Given the description of an element on the screen output the (x, y) to click on. 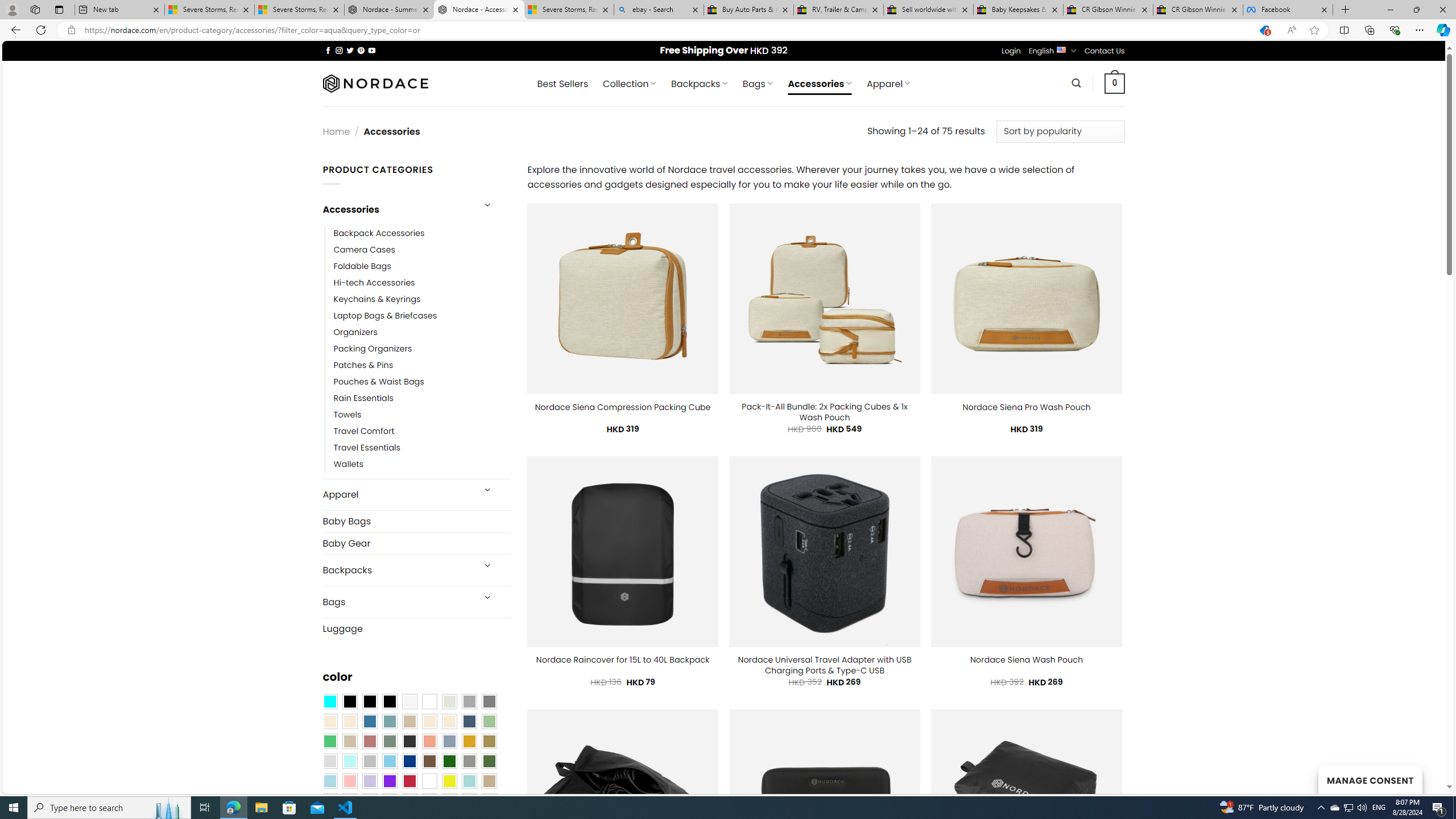
Silver (369, 761)
Light Blue (329, 780)
Towels (422, 415)
Travel Essentials (366, 448)
Rain Essentials (422, 398)
Nordace Raincover for 15L to 40L Backpack (622, 659)
This site has coupons! Shopping in Microsoft Edge, 5 (1263, 29)
Kelp (488, 741)
Brown (429, 761)
